Given the description of an element on the screen output the (x, y) to click on. 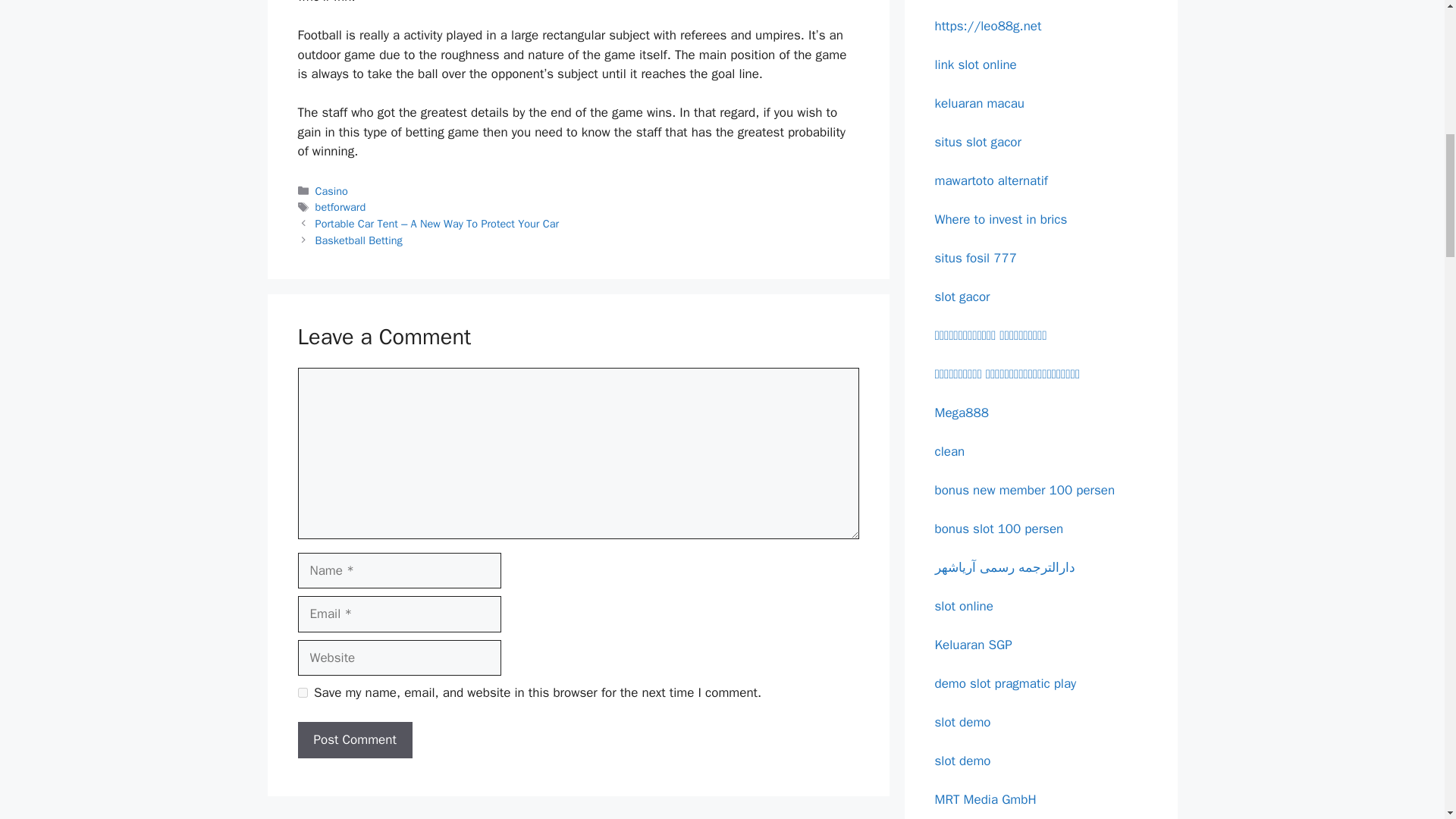
Post Comment (354, 739)
mawartoto alternatif (990, 180)
keluaran macau (979, 103)
link slot online (975, 64)
yes (302, 692)
Casino (331, 191)
betforward (340, 206)
situs slot gacor (977, 141)
Post Comment (354, 739)
Basketball Betting (359, 240)
